Given the description of an element on the screen output the (x, y) to click on. 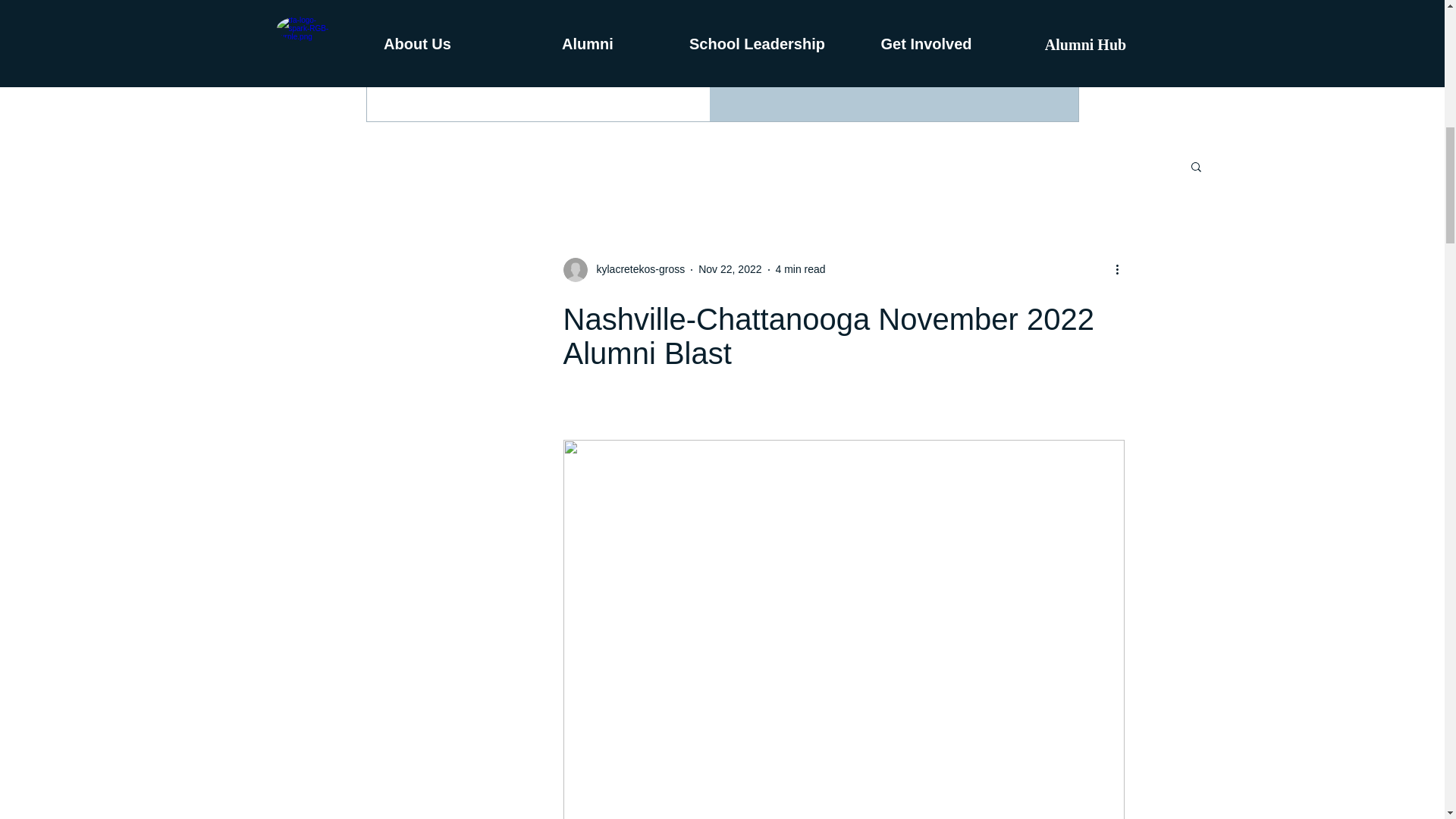
4 min read (799, 268)
Nov 22, 2022 (729, 268)
kylacretekos-gross (635, 269)
kylacretekos-gross (623, 269)
